Given the description of an element on the screen output the (x, y) to click on. 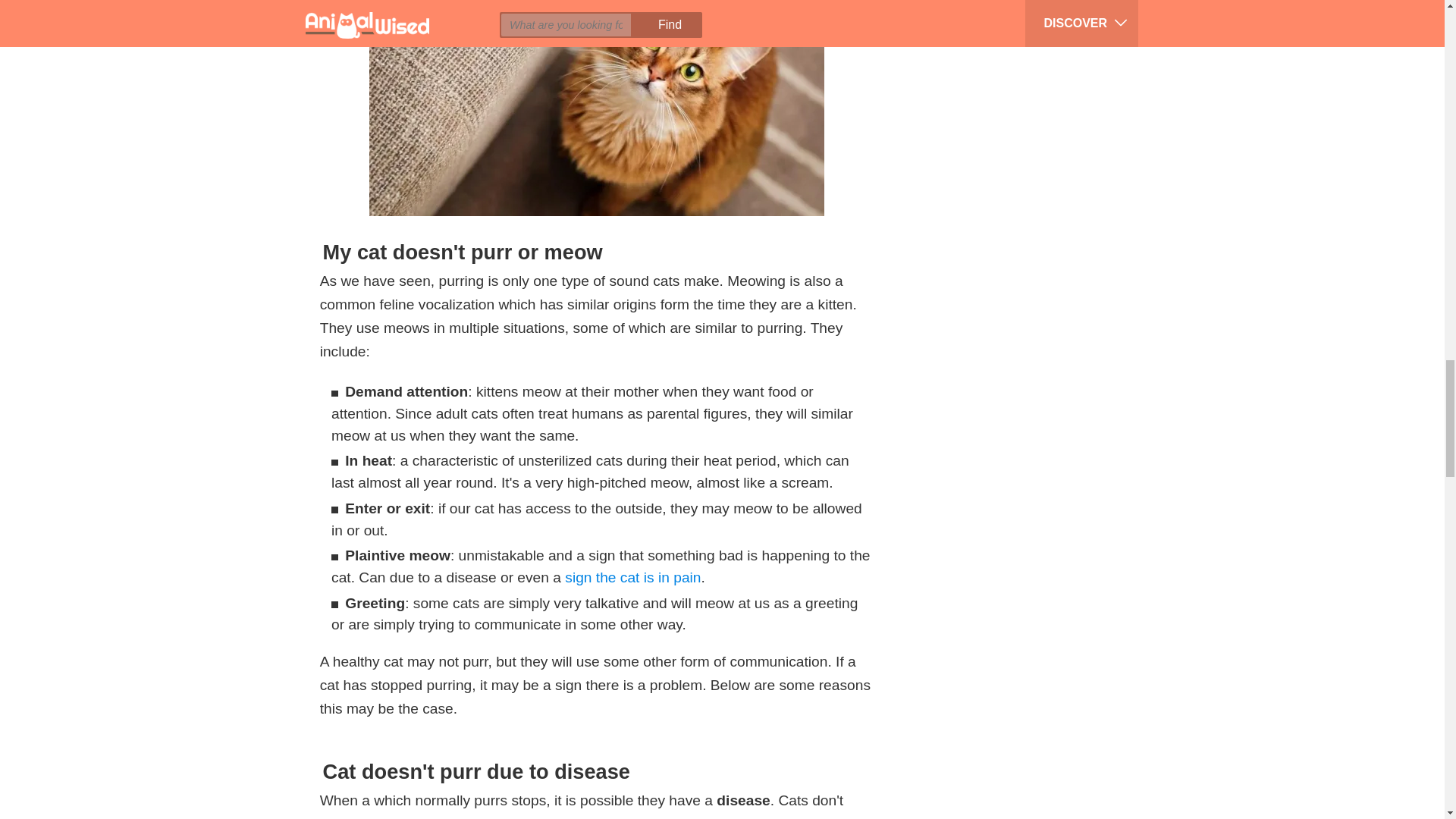
sign the cat is in pain (632, 577)
